Given the description of an element on the screen output the (x, y) to click on. 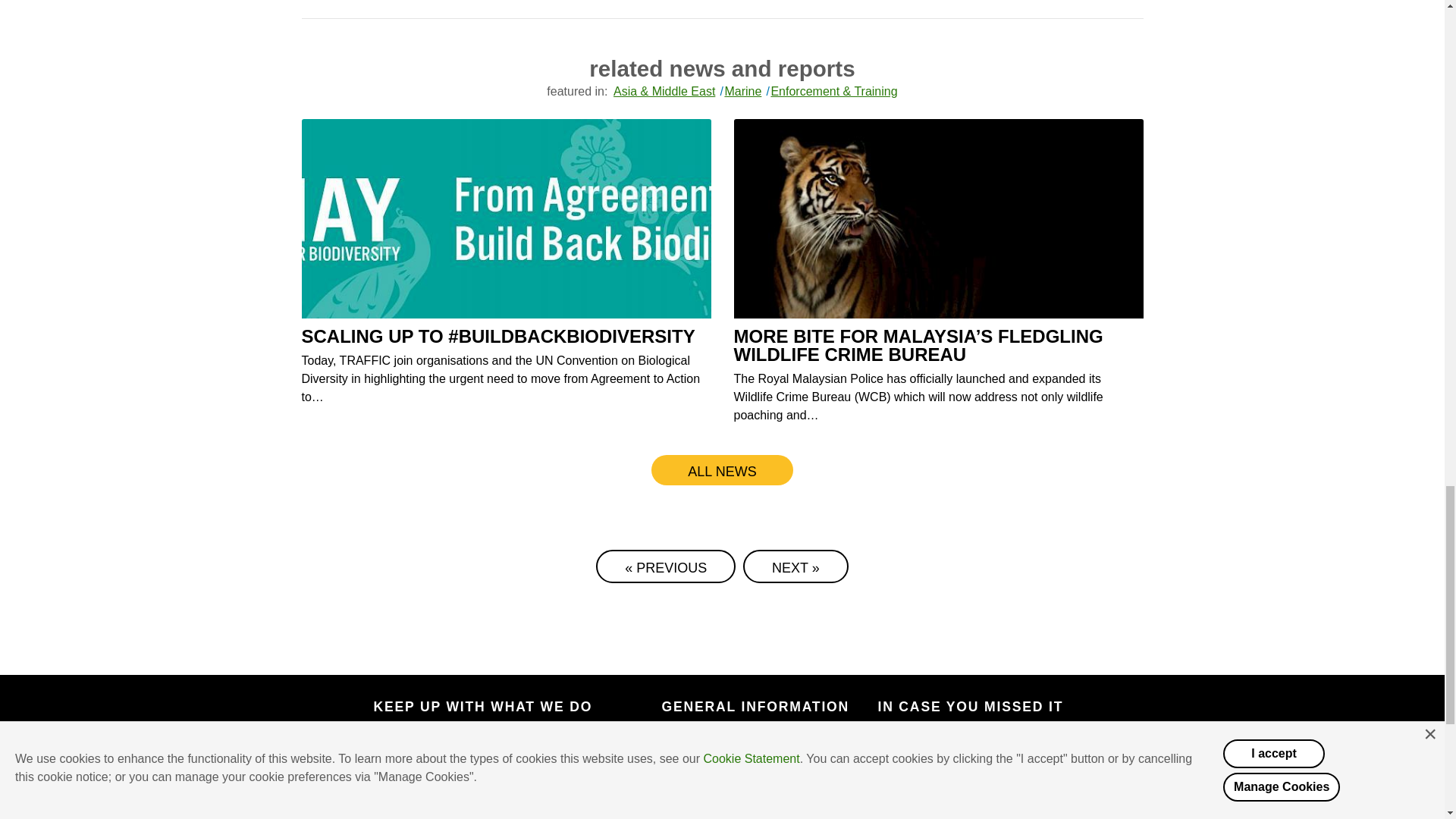
Charity accounts (708, 781)
Contact us at LinkedIn (476, 814)
Follow us on Instagram (521, 814)
Follow us on Twitter (432, 814)
Marine (740, 91)
Visit our YouTube Channel (566, 814)
Visit our Facebook Page (386, 814)
Video library (924, 781)
